Given the description of an element on the screen output the (x, y) to click on. 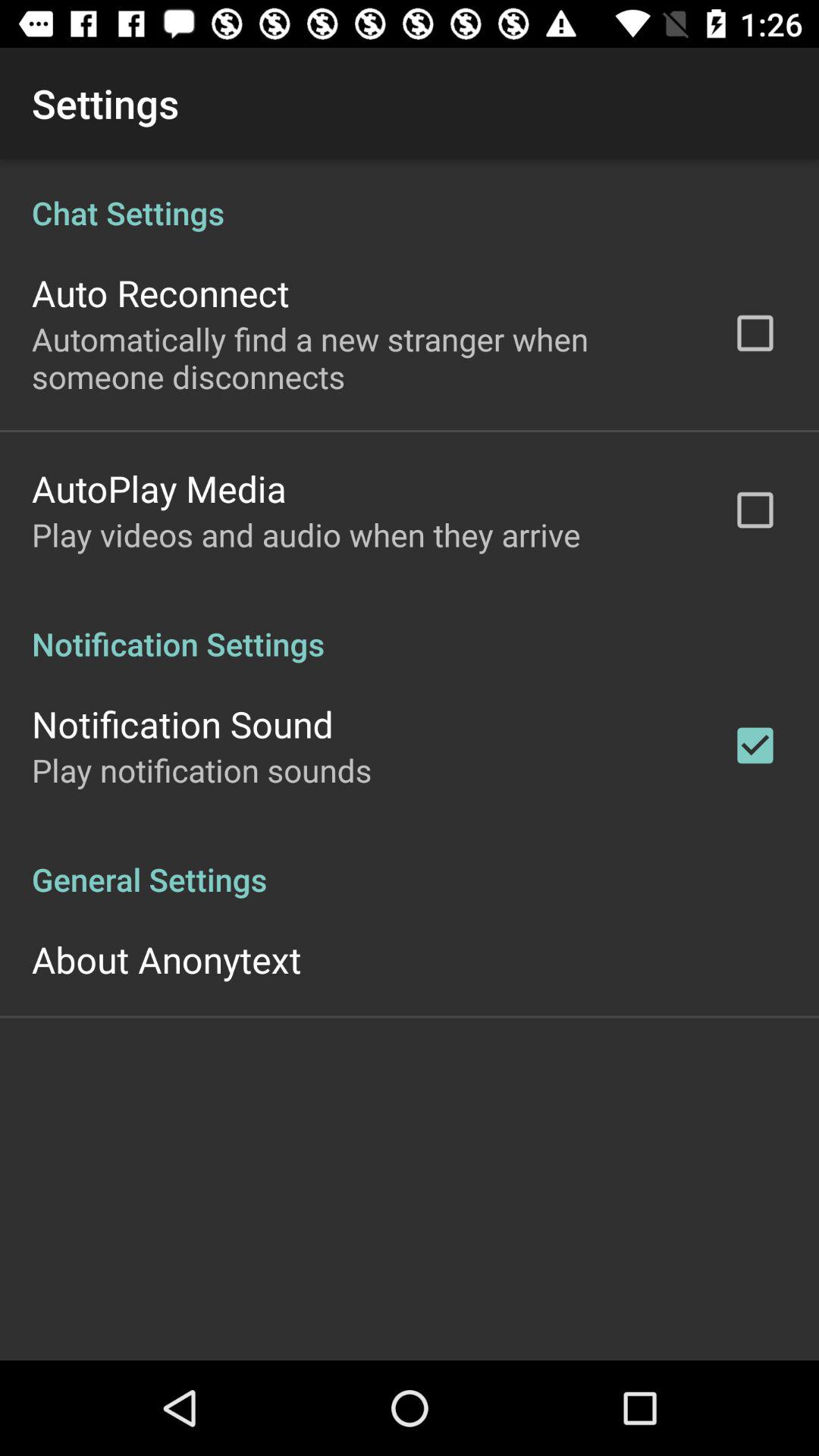
select icon above the autoplay media (361, 357)
